Given the description of an element on the screen output the (x, y) to click on. 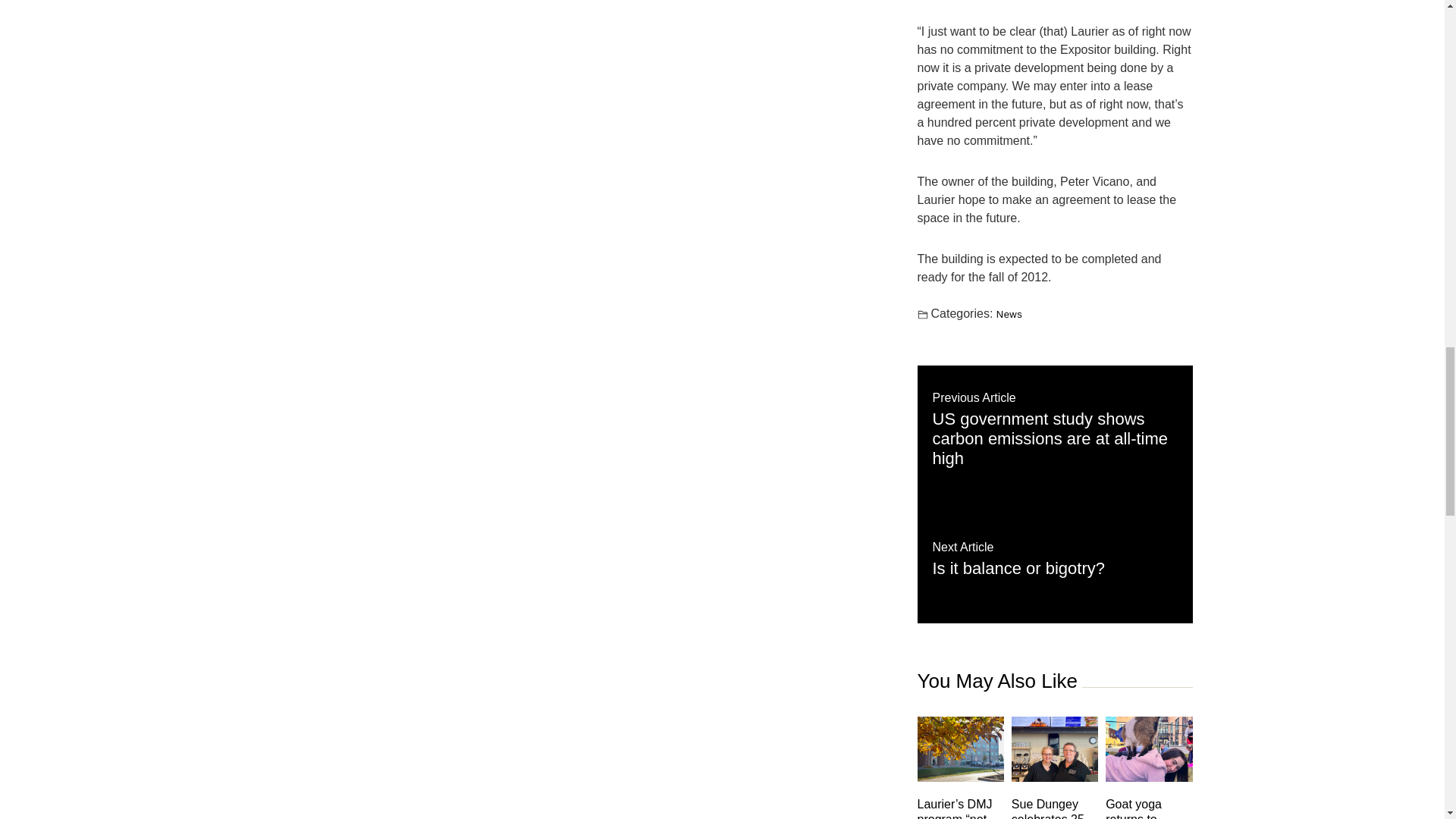
Sue Dungey celebrates 25 years with Laurier Brantford (1054, 807)
News (1008, 313)
Goat yoga returns to campus (1054, 558)
